Given the description of an element on the screen output the (x, y) to click on. 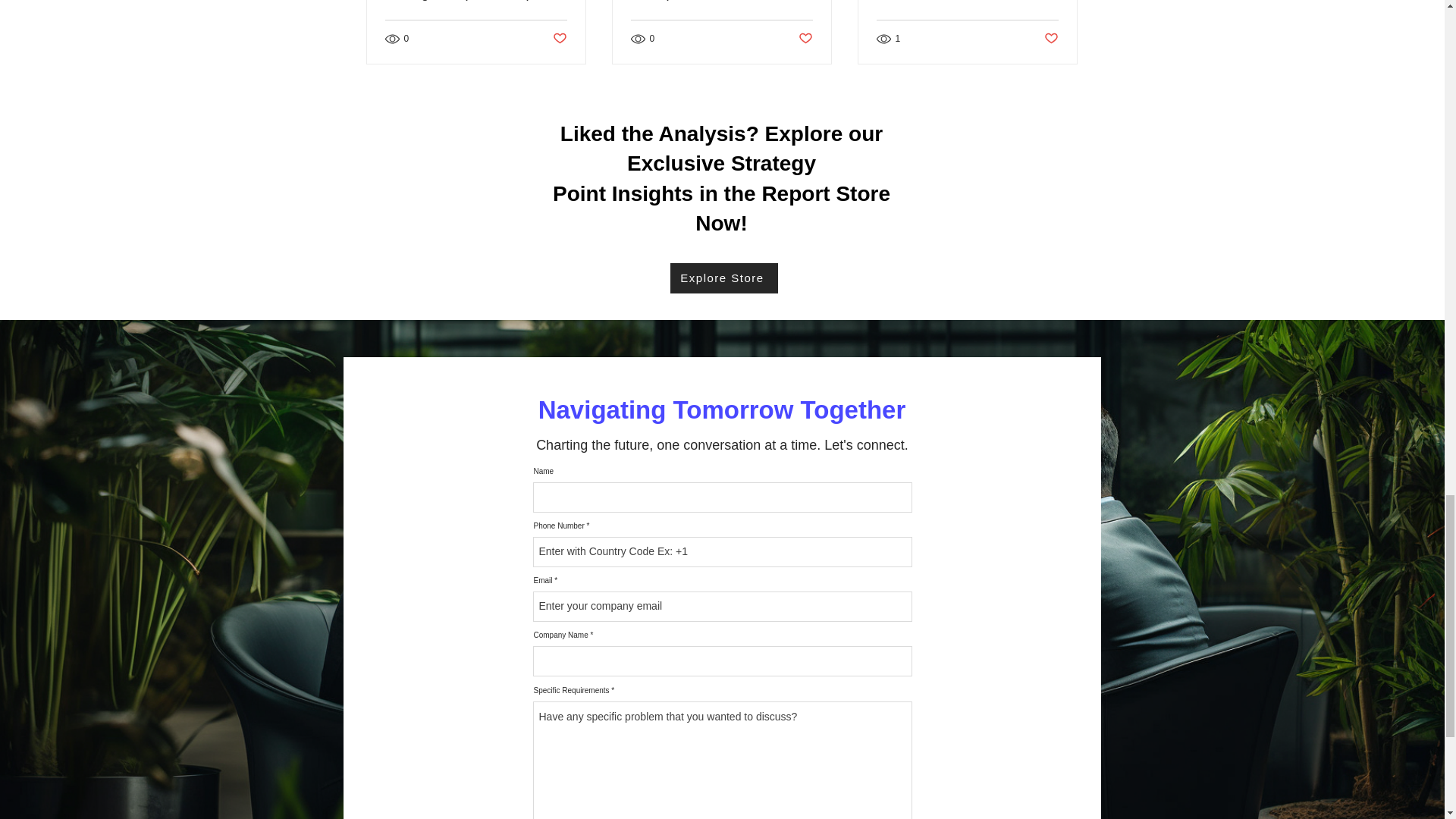
Post not marked as liked (558, 38)
